Given the description of an element on the screen output the (x, y) to click on. 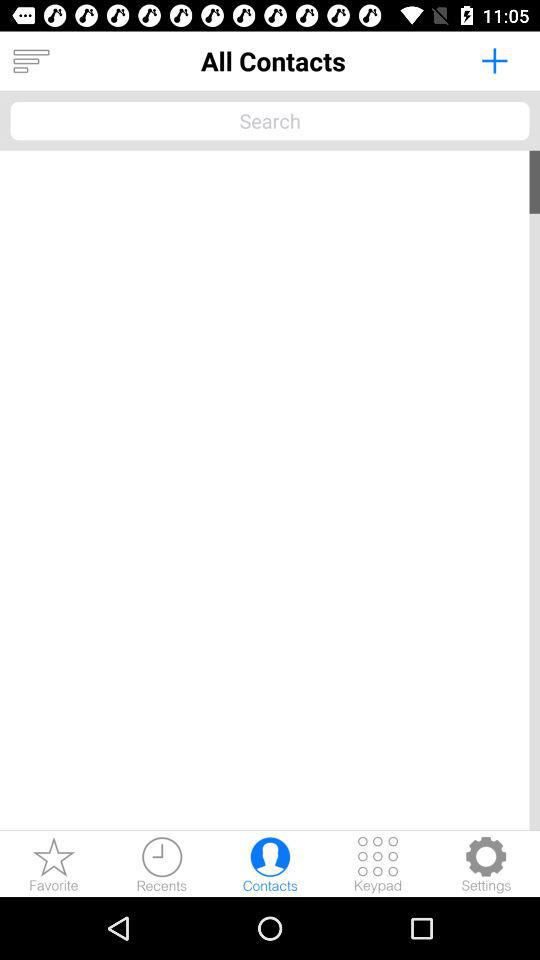
add contact (494, 60)
